Given the description of an element on the screen output the (x, y) to click on. 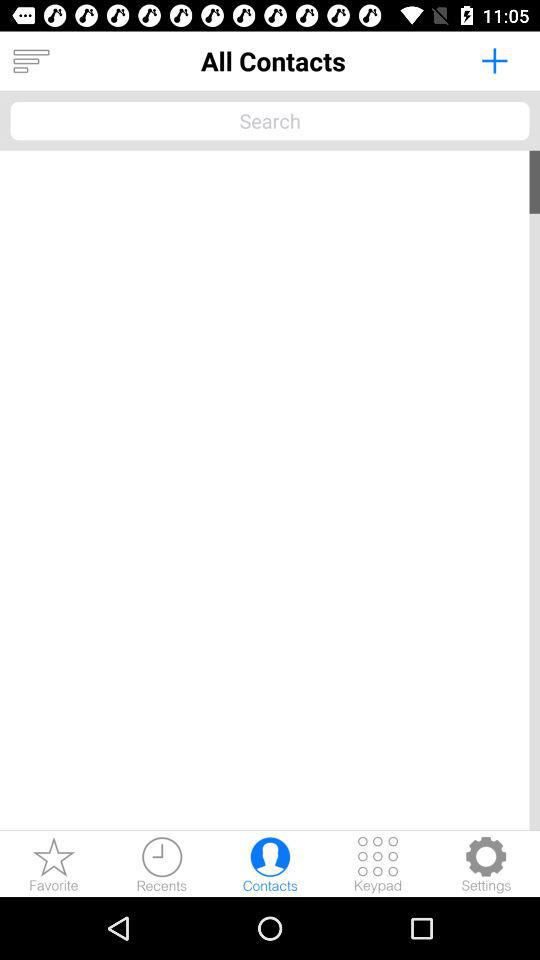
add contact (494, 60)
